Given the description of an element on the screen output the (x, y) to click on. 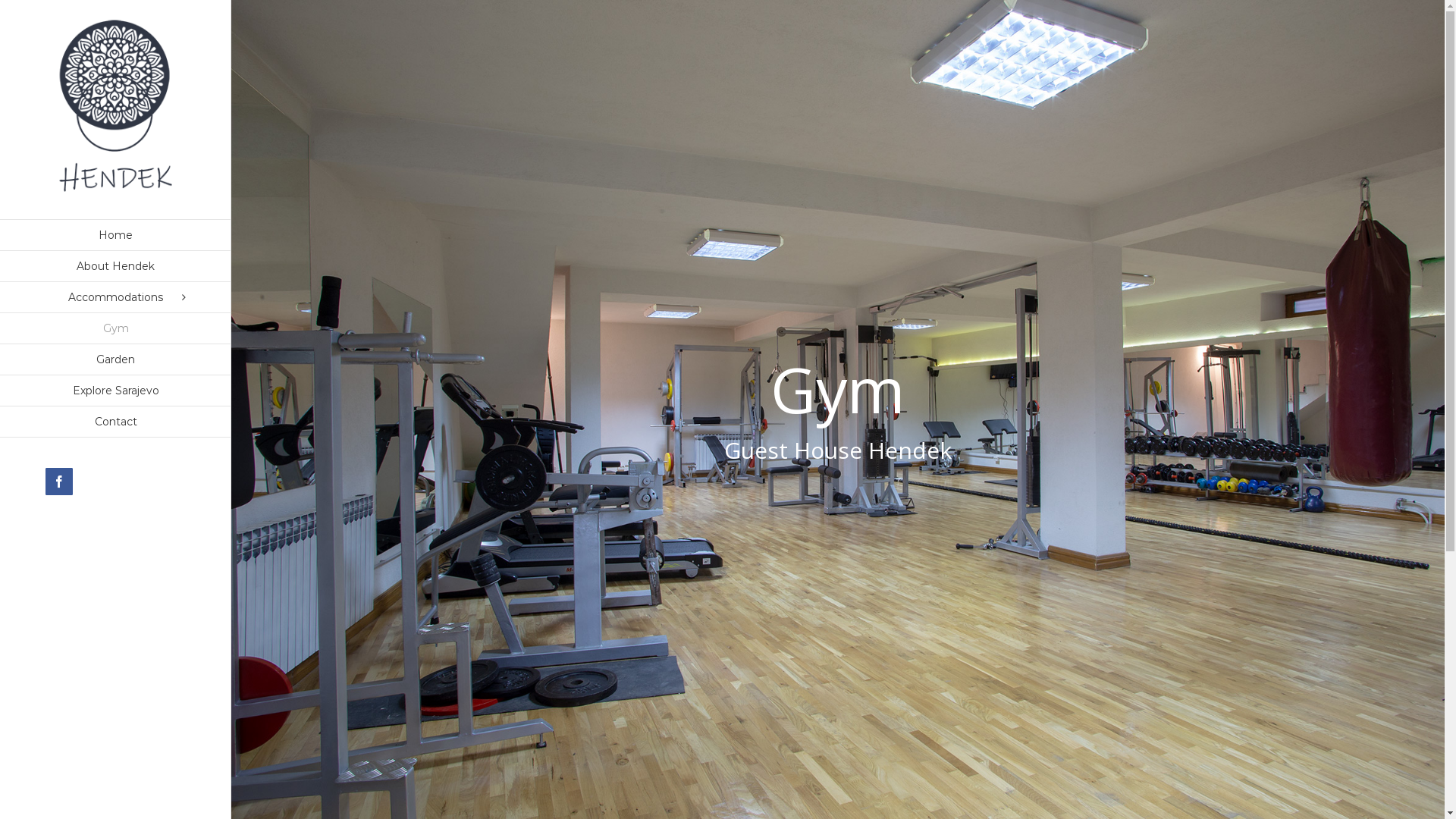
Garden Element type: text (115, 359)
Contact Element type: text (115, 421)
About Hendek Element type: text (115, 266)
Gym Element type: text (115, 328)
Explore Sarajevo Element type: text (115, 390)
Accommodations Element type: text (115, 297)
facebook Element type: text (58, 481)
Home Element type: text (115, 235)
